Given the description of an element on the screen output the (x, y) to click on. 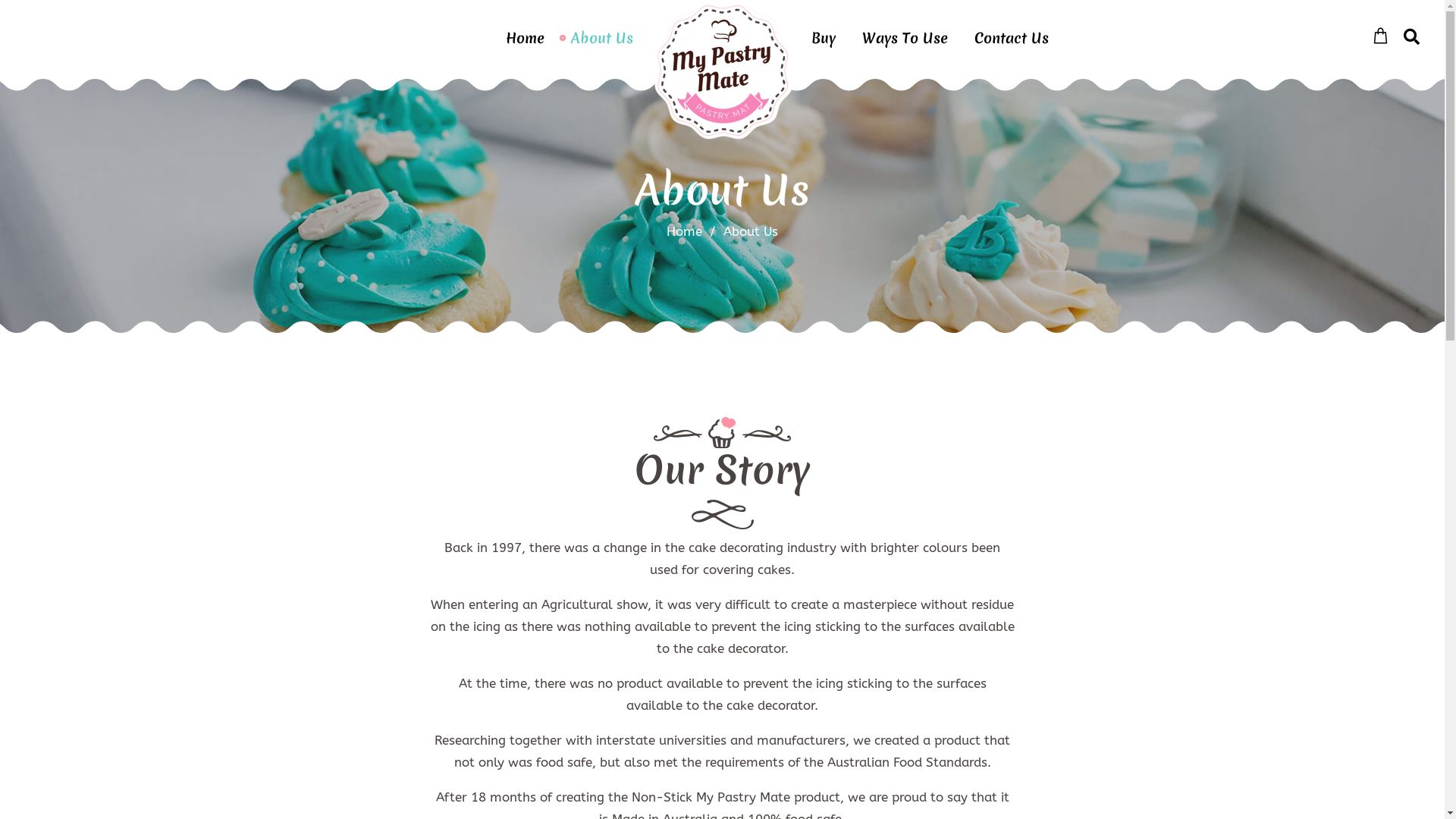
Home Element type: text (684, 230)
Contact Us Element type: text (1011, 37)
About Us Element type: text (601, 37)
Buy Element type: text (823, 37)
Home Element type: text (524, 37)
View your shopping cart Element type: hover (1380, 36)
Ways To Use Element type: text (904, 37)
